Given the description of an element on the screen output the (x, y) to click on. 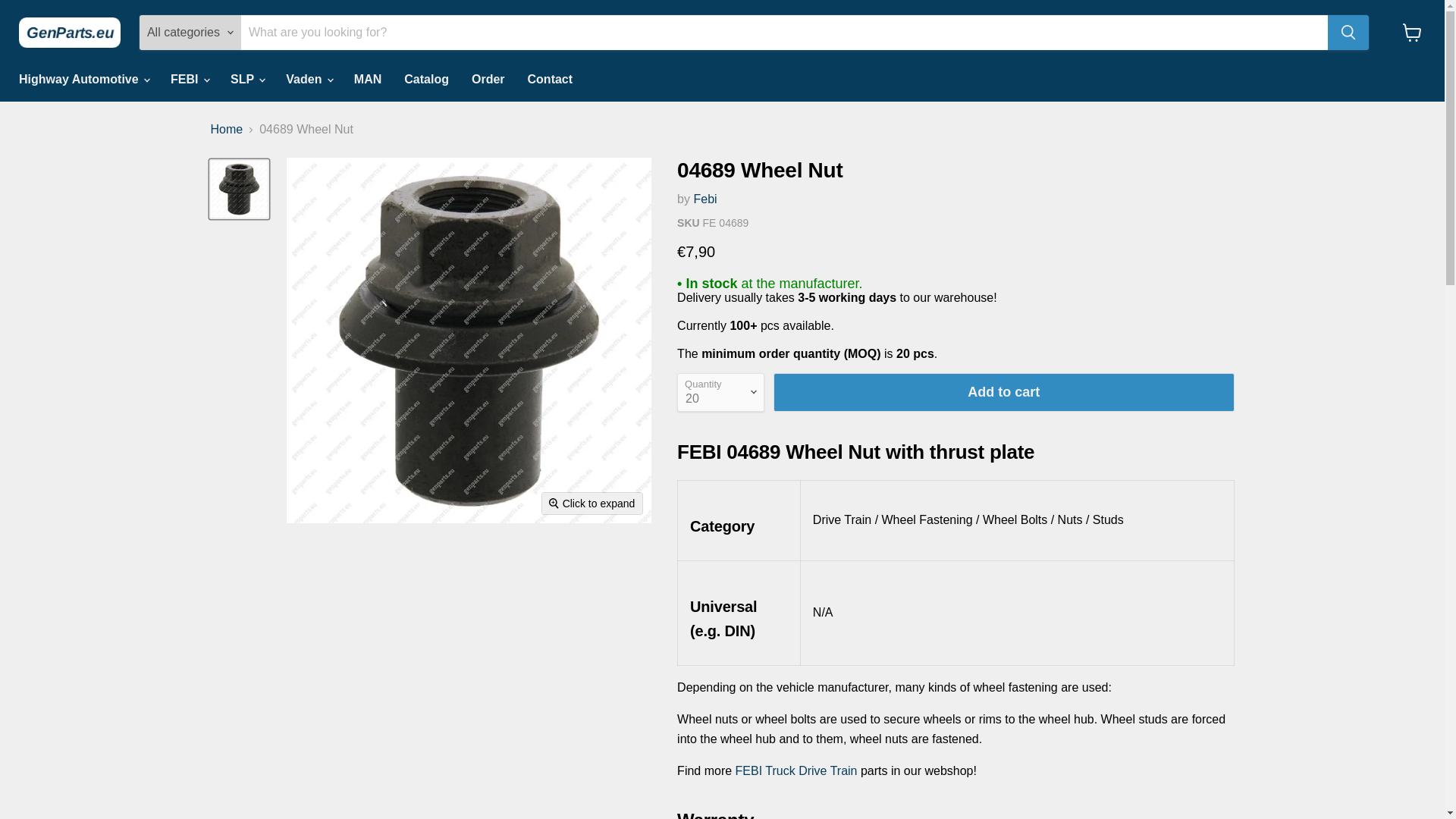
Febi (704, 198)
FEBI Truck Drive Train (796, 770)
View cart (1411, 32)
